Given the description of an element on the screen output the (x, y) to click on. 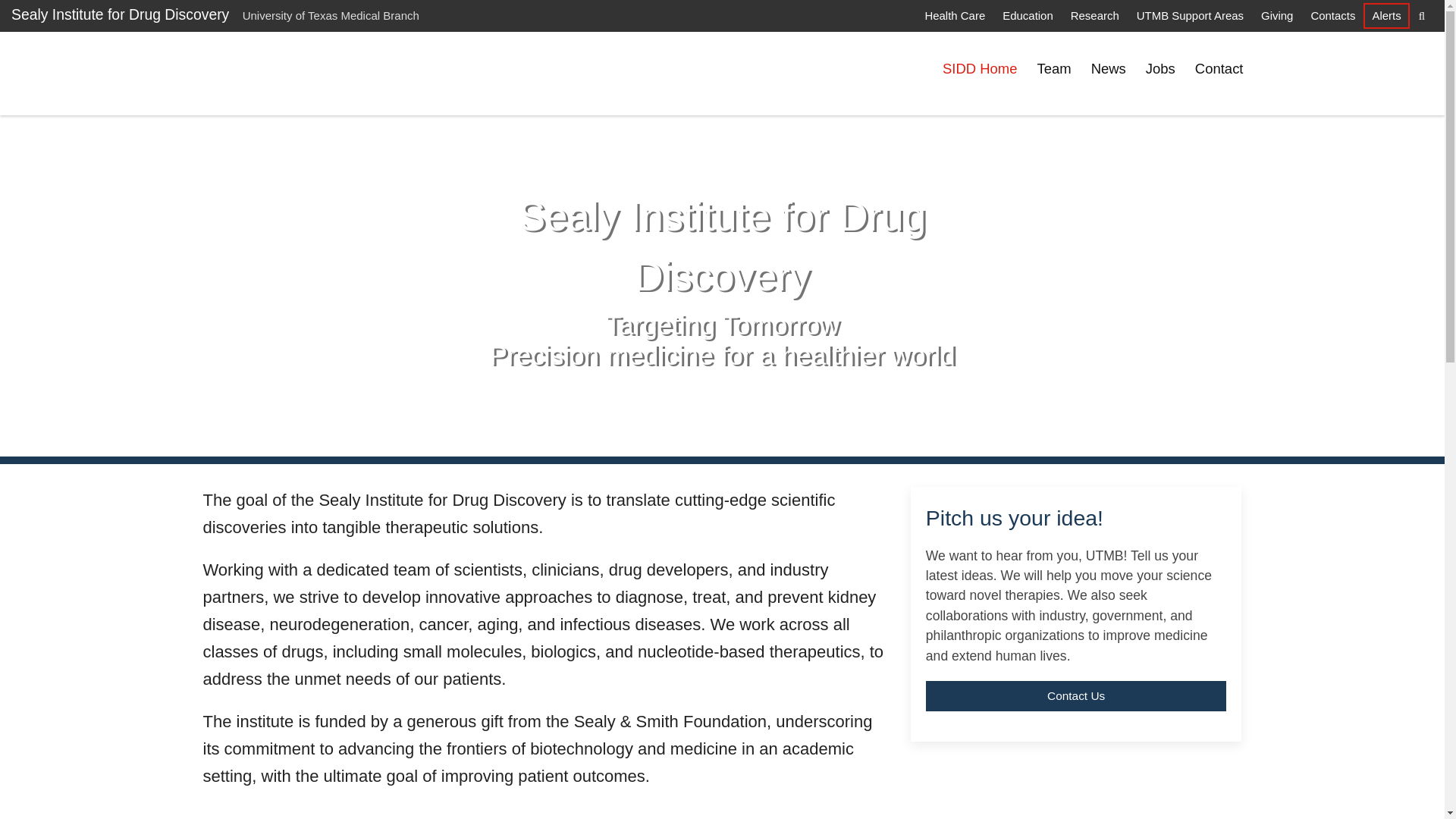
The University of Texas Medical Branch (265, 73)
Giving (1276, 15)
Alerts (1385, 15)
Health Care (953, 15)
Contact Us (1076, 695)
Contact (1219, 68)
Sealy Institute for Drug Discovery (119, 14)
Education (1026, 15)
UTMB Health (265, 73)
